Given the description of an element on the screen output the (x, y) to click on. 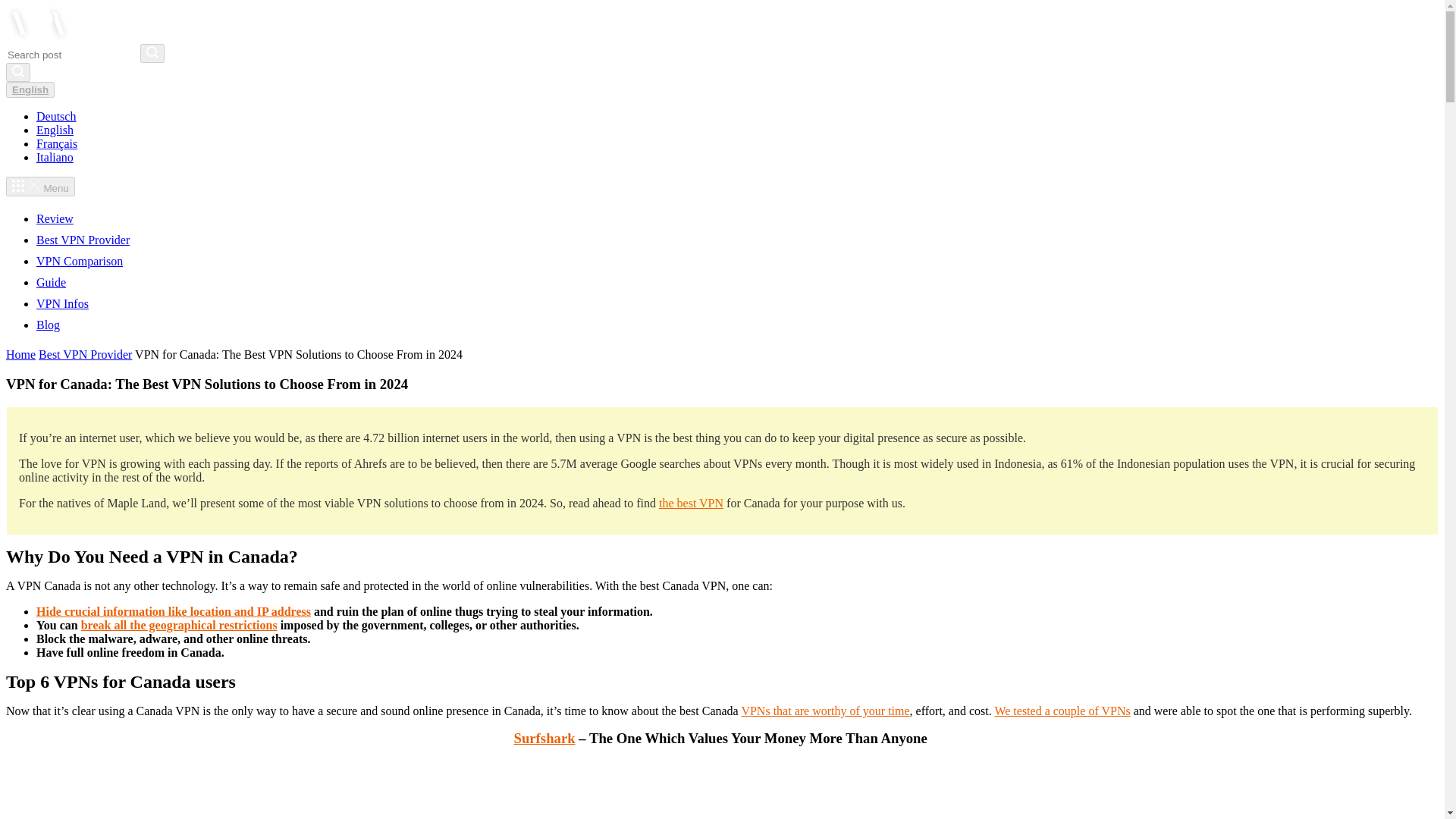
the best VPN (691, 502)
VPN Comparison (79, 260)
English (30, 89)
Best VPN Provider (85, 354)
VPNs that are worthy of your time (824, 710)
Surfshark (544, 738)
Review (55, 218)
VPN Infos (62, 303)
We tested a couple of VPNs (1061, 710)
Italiano (55, 156)
Guide (50, 282)
Blog (47, 324)
Menu (40, 186)
Deutsch (55, 115)
Hide crucial information like location and IP address (173, 611)
